Given the description of an element on the screen output the (x, y) to click on. 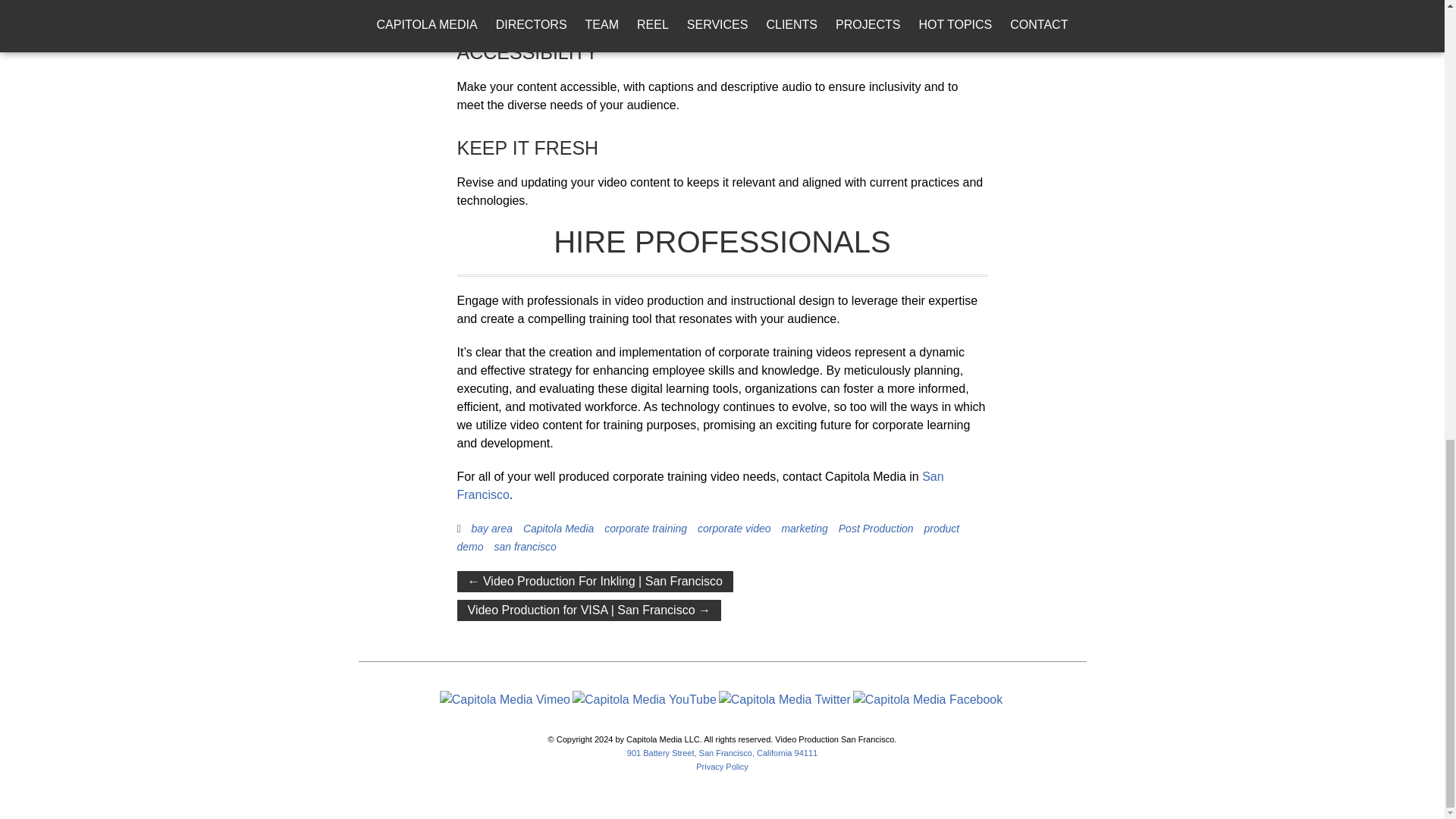
corporate video (734, 528)
Post Production (876, 528)
marketing (803, 528)
bay area (491, 528)
san francisco (524, 546)
San Francisco (700, 485)
Capitola Media (558, 528)
901 Battery Street, San Francisco, California 94111 (721, 752)
product demo (708, 537)
corporate training (645, 528)
